Given the description of an element on the screen output the (x, y) to click on. 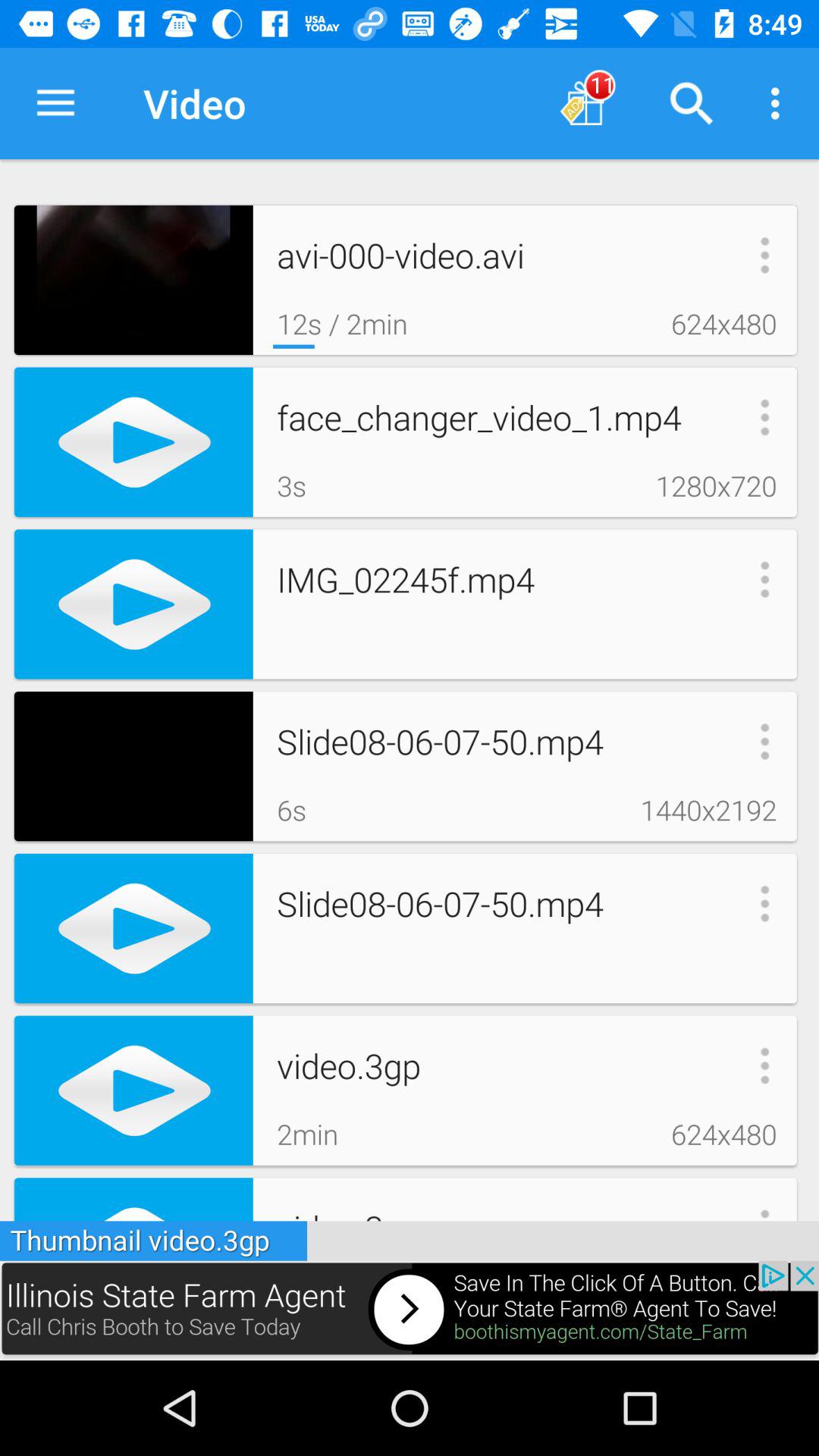
advertisement bar (409, 1310)
